Given the description of an element on the screen output the (x, y) to click on. 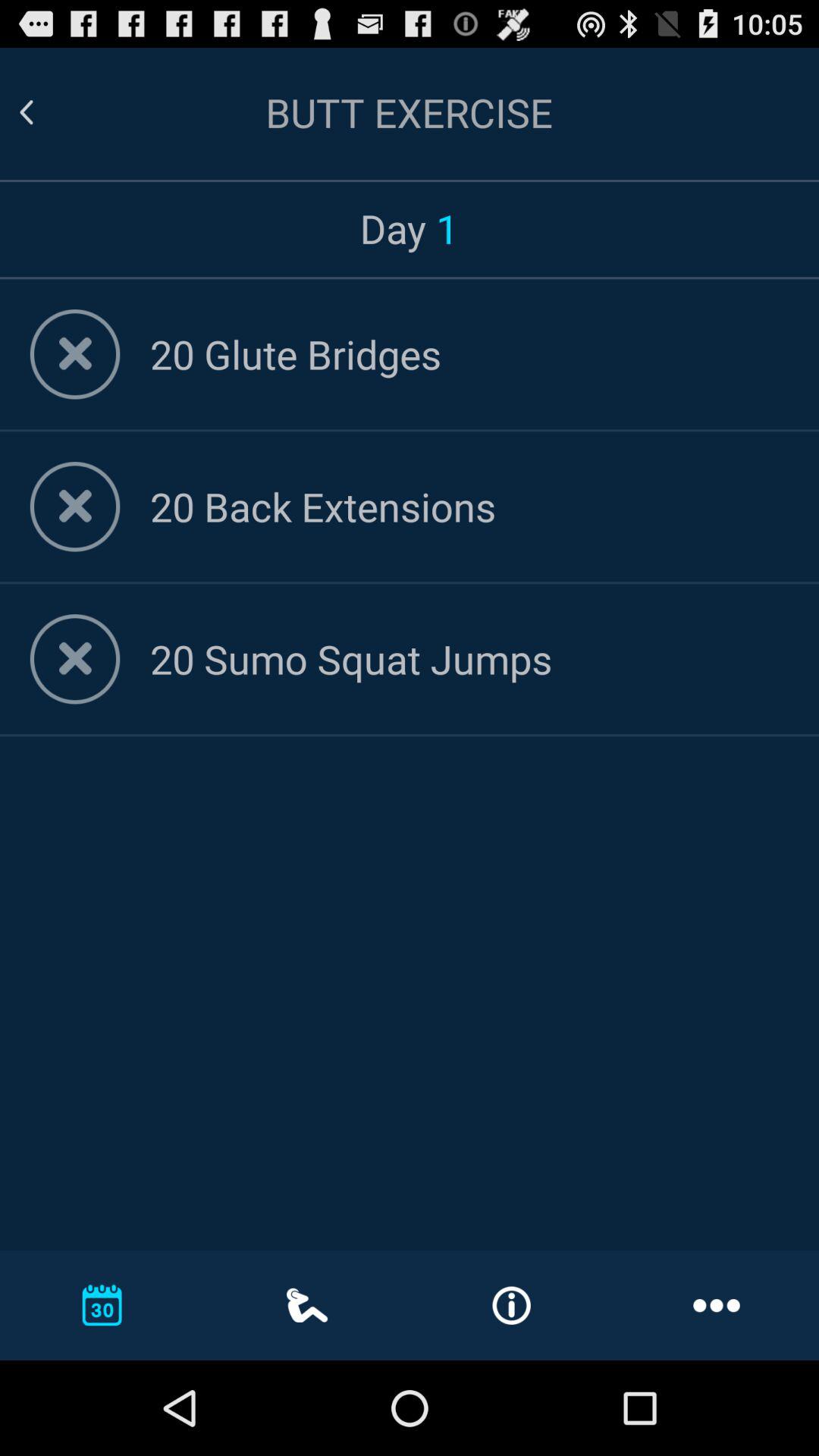
open the icon above 20 back extensions item (469, 353)
